Given the description of an element on the screen output the (x, y) to click on. 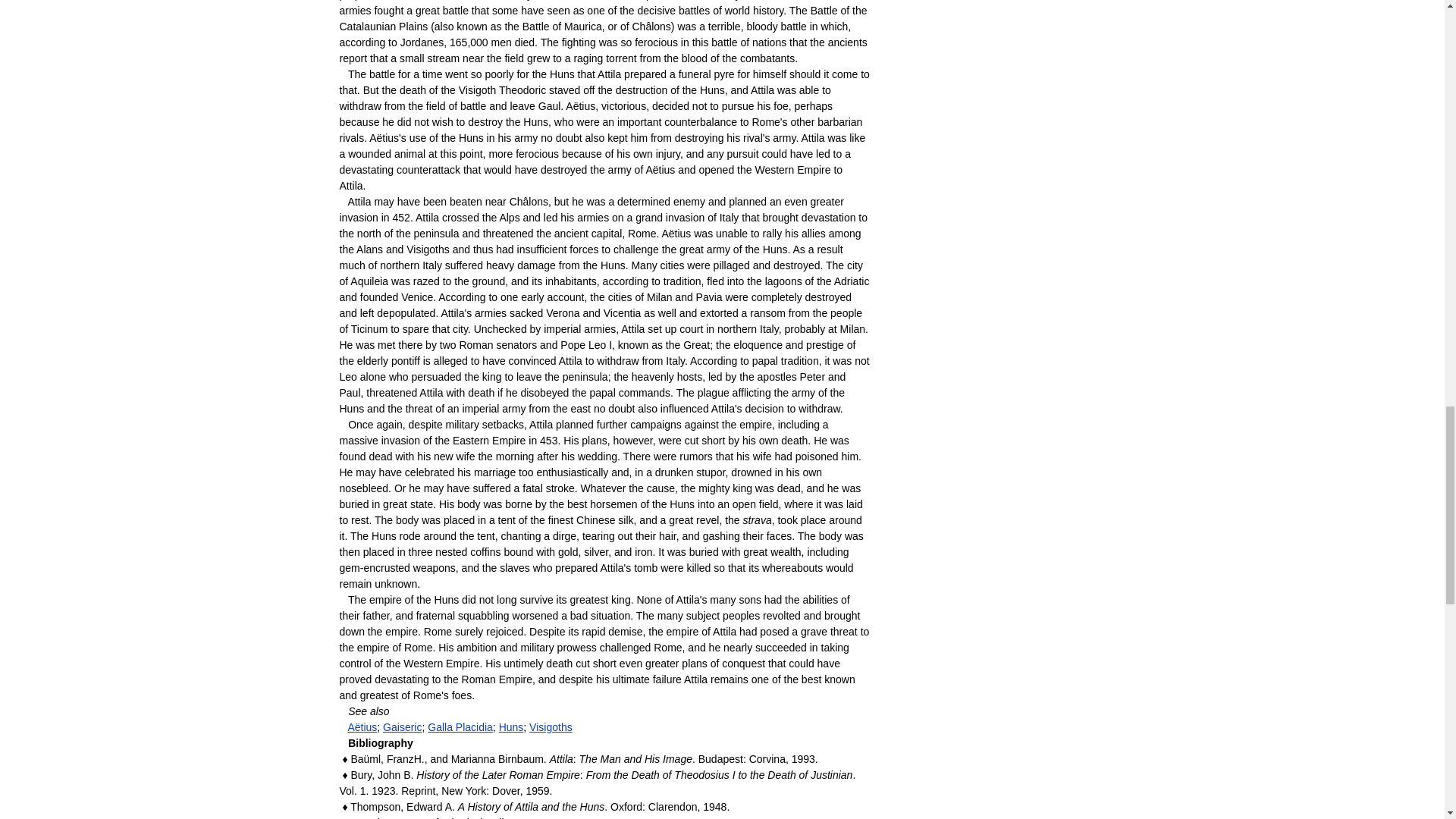
Gaiseric (402, 727)
Visigoths (550, 727)
Huns (511, 727)
Galla Placidia (460, 727)
